Given the description of an element on the screen output the (x, y) to click on. 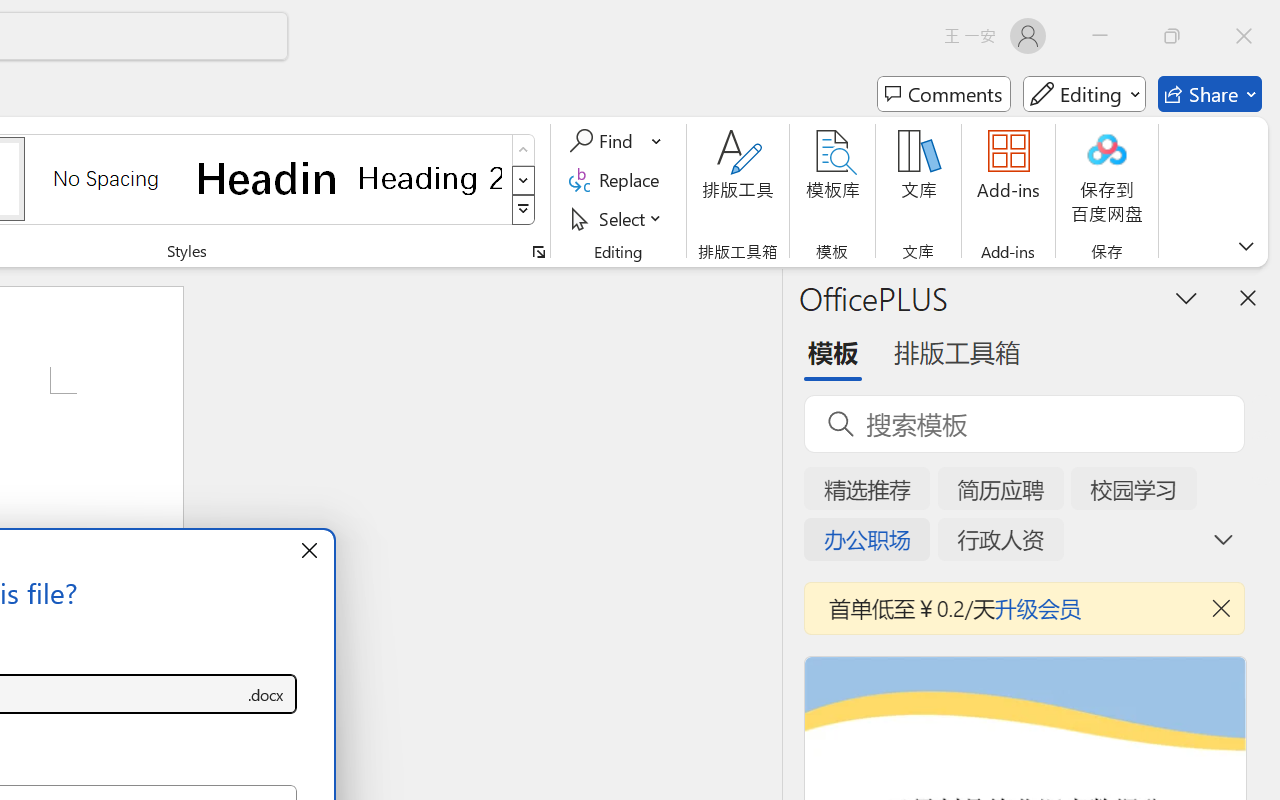
Row Down (523, 180)
More Options (657, 141)
Class: NetUIImage (523, 210)
Comments (943, 94)
Restore Down (1172, 36)
Replace... (617, 179)
Styles (523, 209)
Select (618, 218)
